Given the description of an element on the screen output the (x, y) to click on. 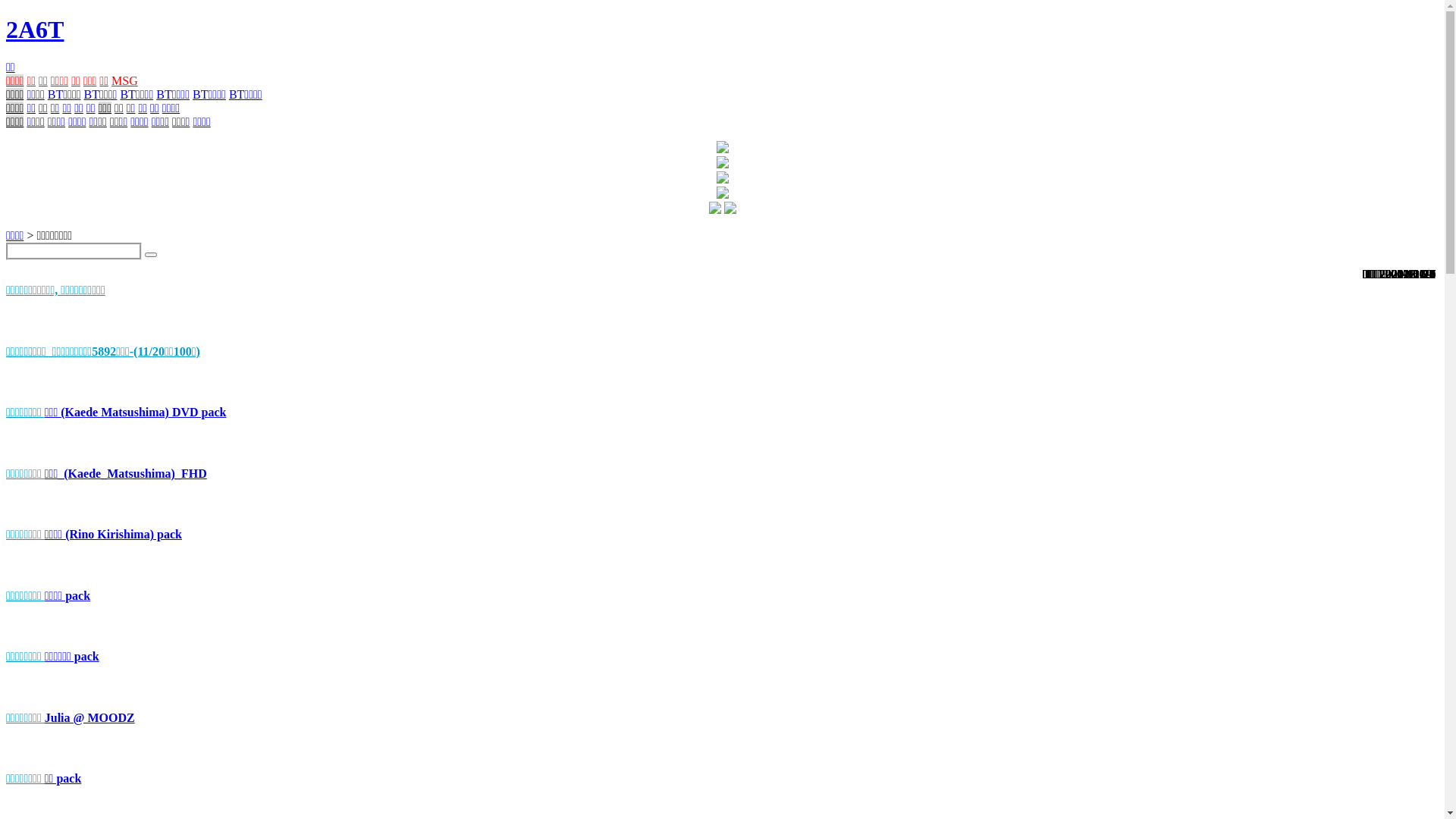
MSG Element type: text (124, 80)
Julia @ MOODZ Element type: text (89, 717)
2A6T Element type: text (34, 29)
